Given the description of an element on the screen output the (x, y) to click on. 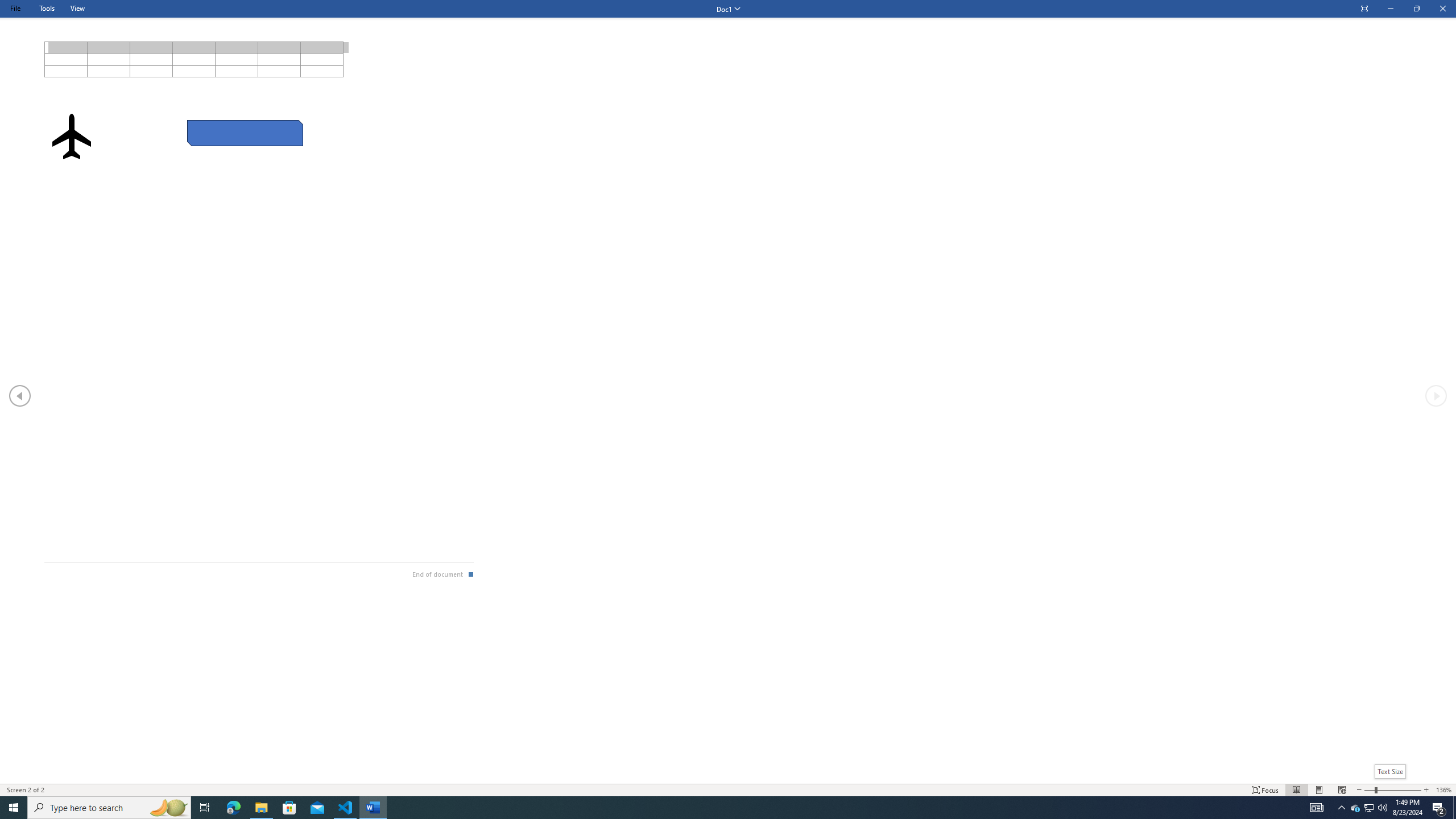
Text Size (1390, 771)
Read Mode (1296, 790)
File Tab (15, 8)
Page Number Screen 2 of 2  (29, 790)
Text Size (1392, 790)
Focus  (1265, 790)
Class: NetUIScrollBar (728, 778)
Restore Down (1416, 9)
Minimize (1390, 9)
Zoom In (1399, 790)
